Given the description of an element on the screen output the (x, y) to click on. 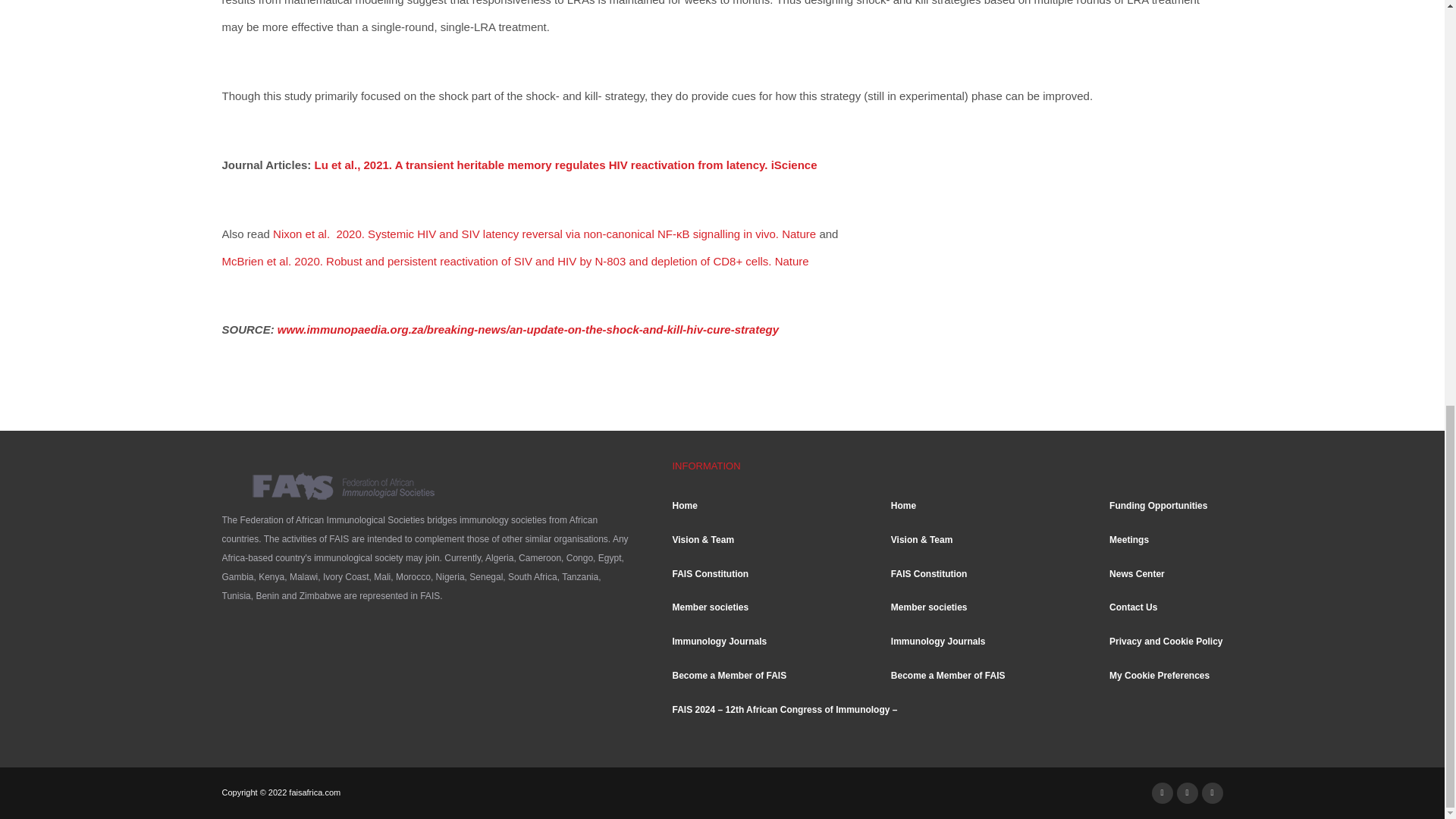
Home (948, 506)
Member societies (728, 607)
Immunology Journals (728, 642)
Home (728, 506)
Become a Member of FAIS (728, 676)
FAIS Constitution (728, 574)
Open Cookie Preferences (32, 2)
